Given the description of an element on the screen output the (x, y) to click on. 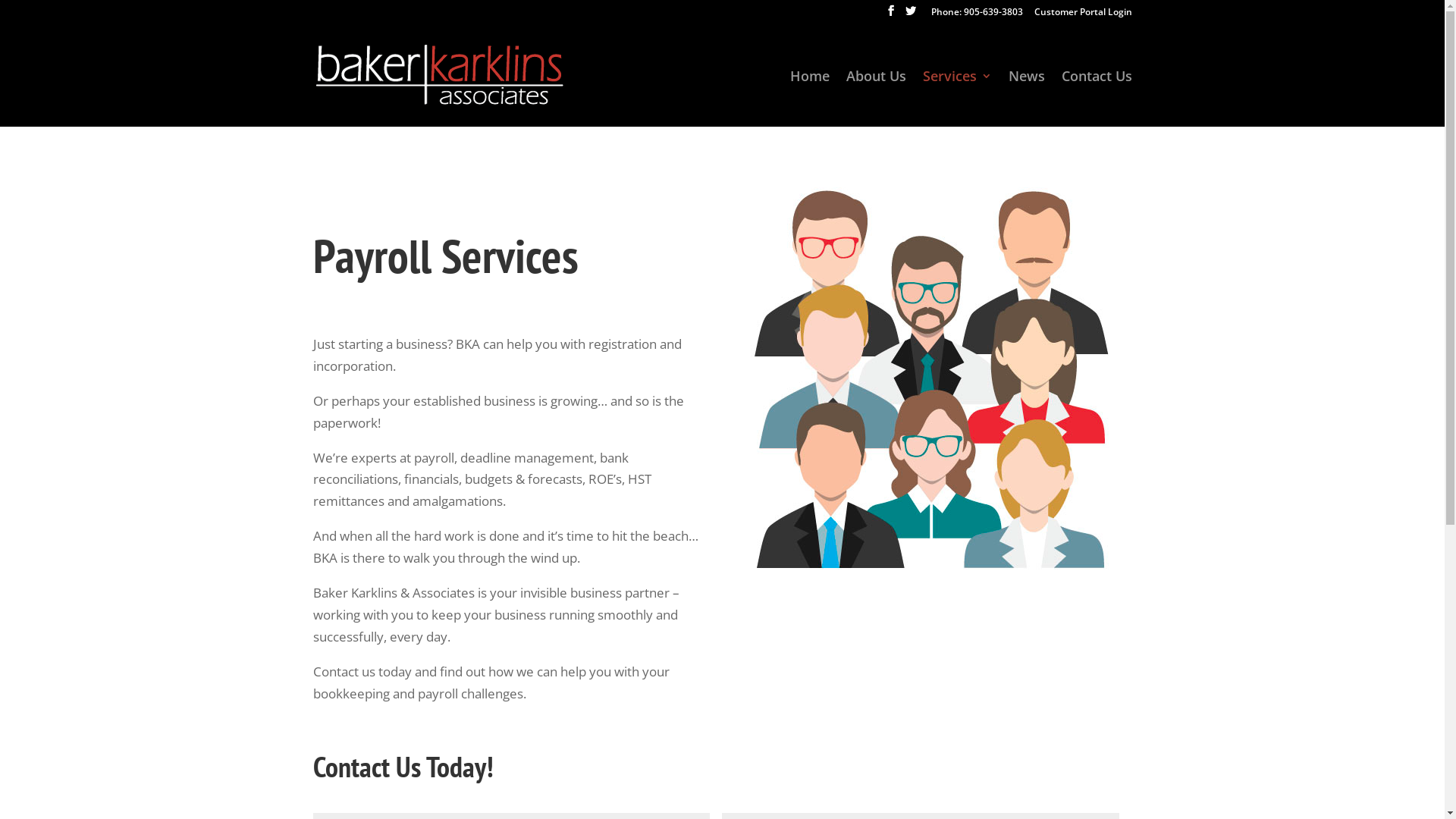
Contact Us Element type: text (1096, 97)
Phone: 905-639-3803 Element type: text (976, 15)
News Element type: text (1026, 97)
Services Element type: text (956, 97)
Customer Portal Login Element type: text (1083, 15)
Home Element type: text (809, 97)
About Us Element type: text (876, 97)
